Given the description of an element on the screen output the (x, y) to click on. 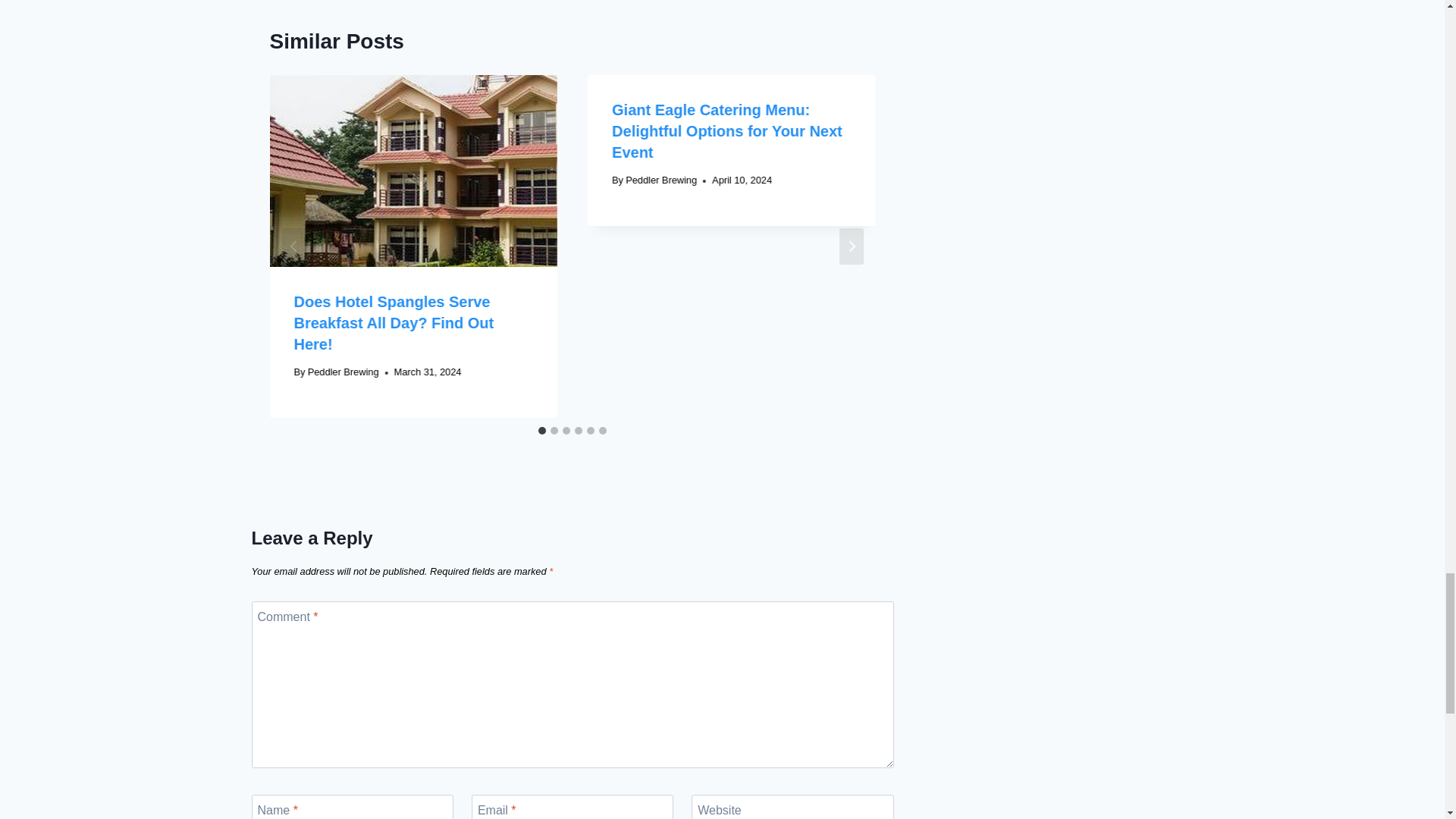
Peddler Brewing (342, 371)
Does Hotel Spangles Serve Breakfast All Day? Find Out Here! (394, 322)
